Given the description of an element on the screen output the (x, y) to click on. 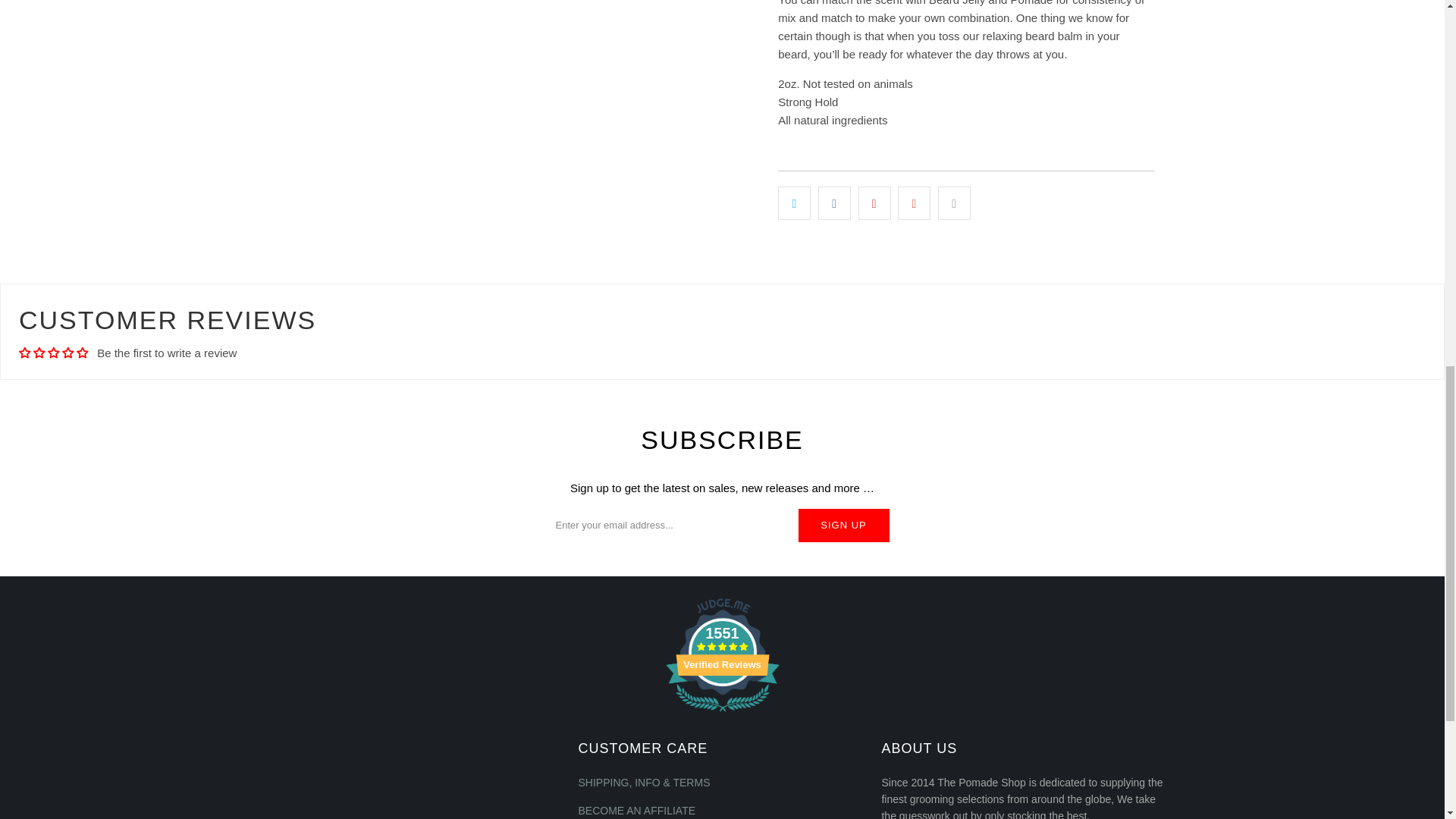
Share this on Twitter (793, 203)
Share this on Facebook (834, 203)
Email this to a friend (954, 203)
Sign Up (842, 525)
Share this on Pinterest (875, 203)
